Given the description of an element on the screen output the (x, y) to click on. 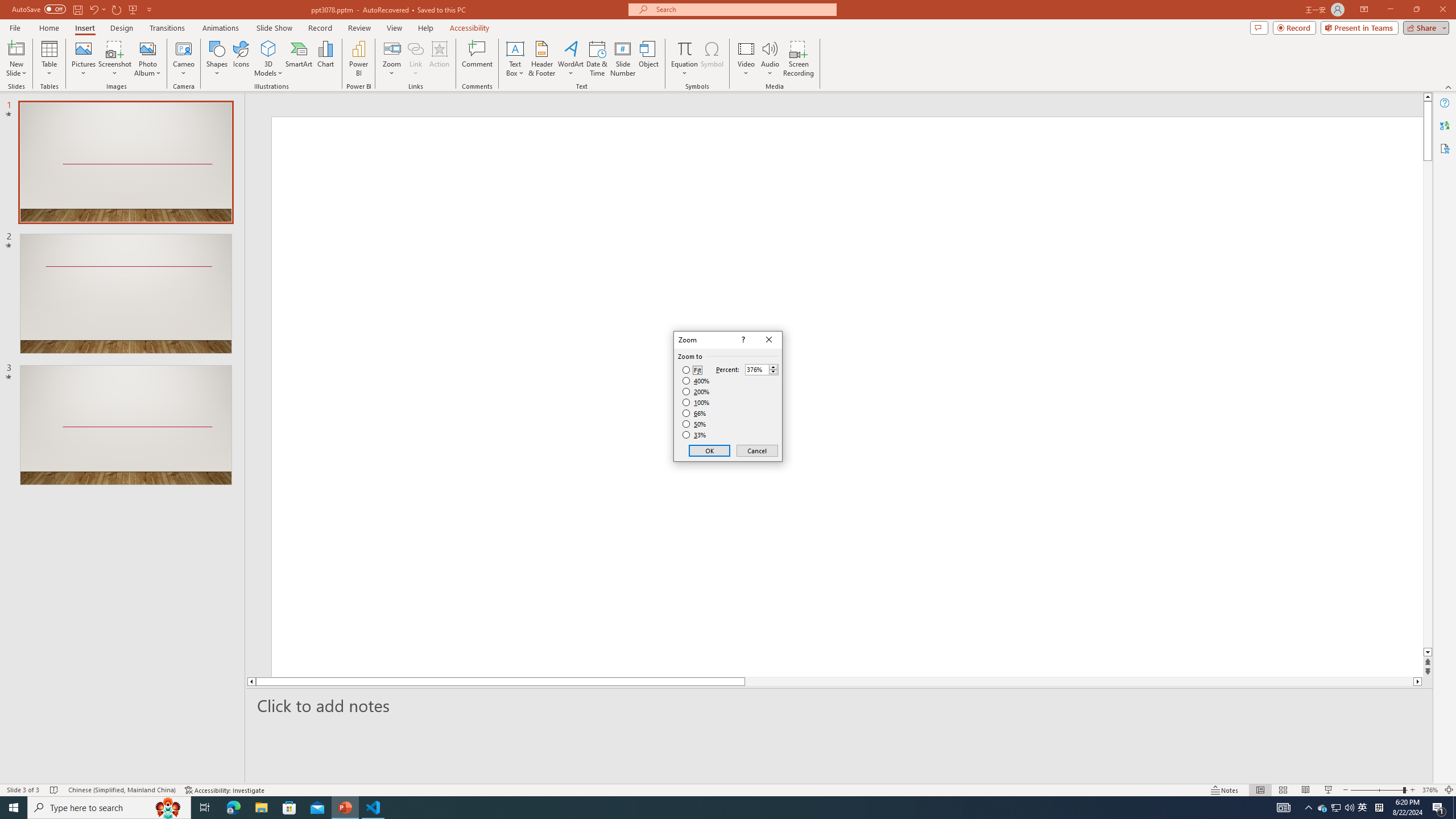
Link (415, 48)
PowerPoint - 1 running window (345, 807)
Action Center, 1 new notification (1439, 807)
WordArt (570, 58)
Icons (240, 58)
More (772, 366)
Visual Studio Code - 1 running window (373, 807)
Microsoft search (742, 9)
Equation (683, 58)
